Given the description of an element on the screen output the (x, y) to click on. 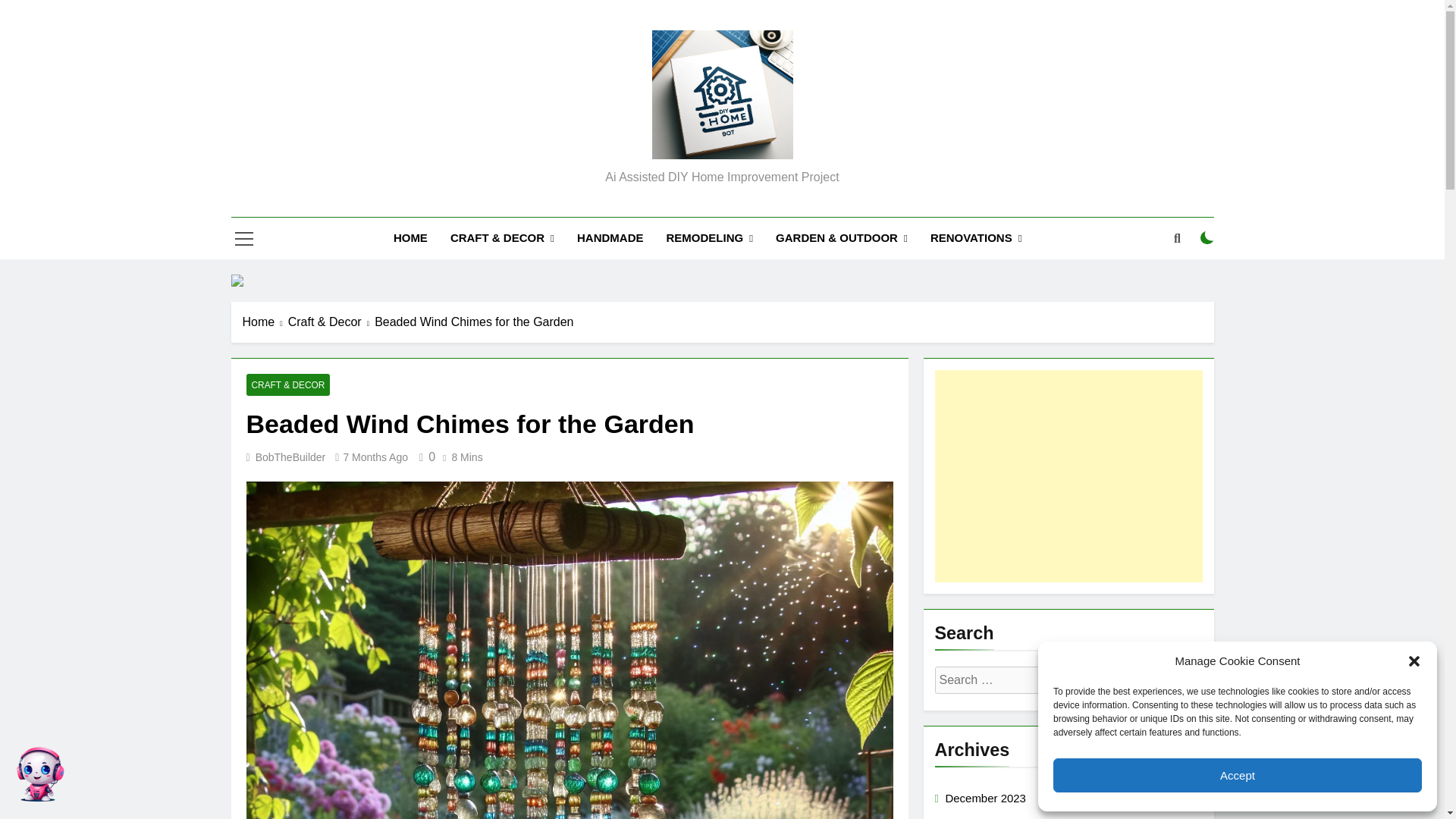
DIY Home Improvement With Ai (669, 181)
on (1206, 237)
HOME (410, 237)
Search (1131, 680)
REMODELING (708, 238)
Accept (1237, 775)
Advertisement (1068, 476)
HANDMADE (610, 237)
RENOVATIONS (975, 238)
Search (1131, 680)
Home (265, 321)
